Given the description of an element on the screen output the (x, y) to click on. 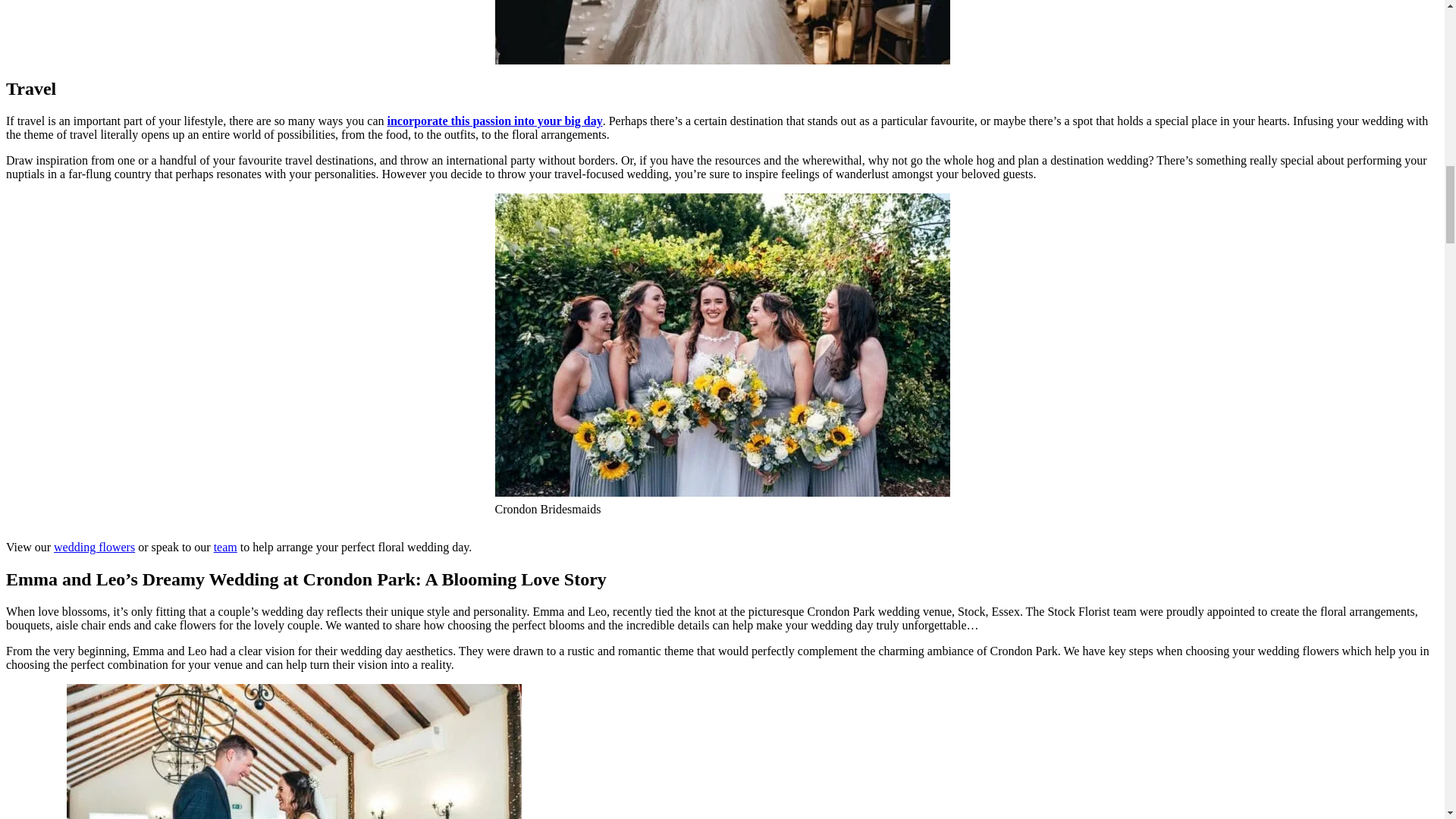
wedding flowers (94, 546)
team (225, 546)
incorporate this passion into your big day (494, 120)
